Given the description of an element on the screen output the (x, y) to click on. 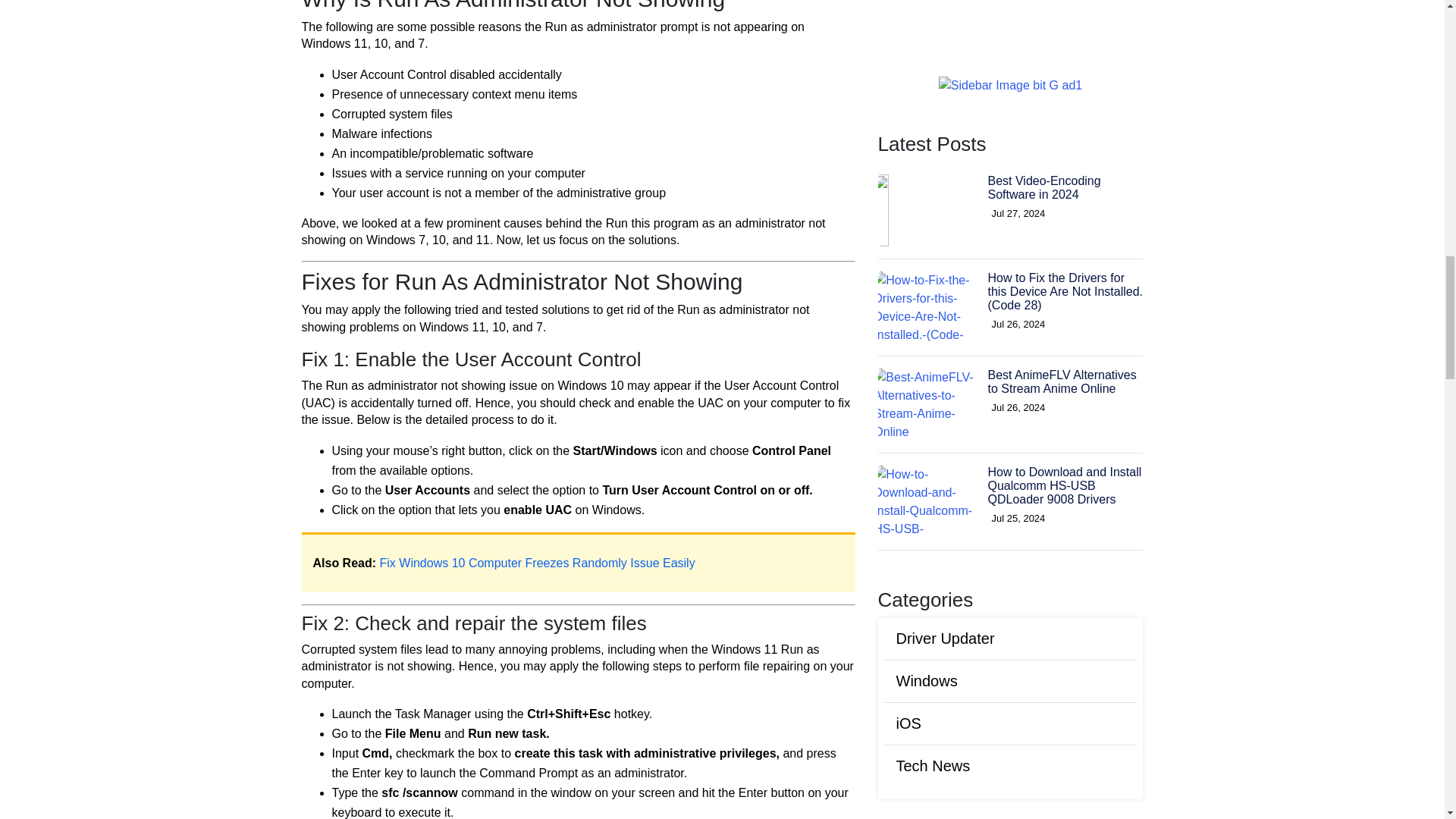
Subscribe Now (1010, 83)
Fix Windows 10 Computer Freezes Randomly Issue Easily (537, 562)
